Given the description of an element on the screen output the (x, y) to click on. 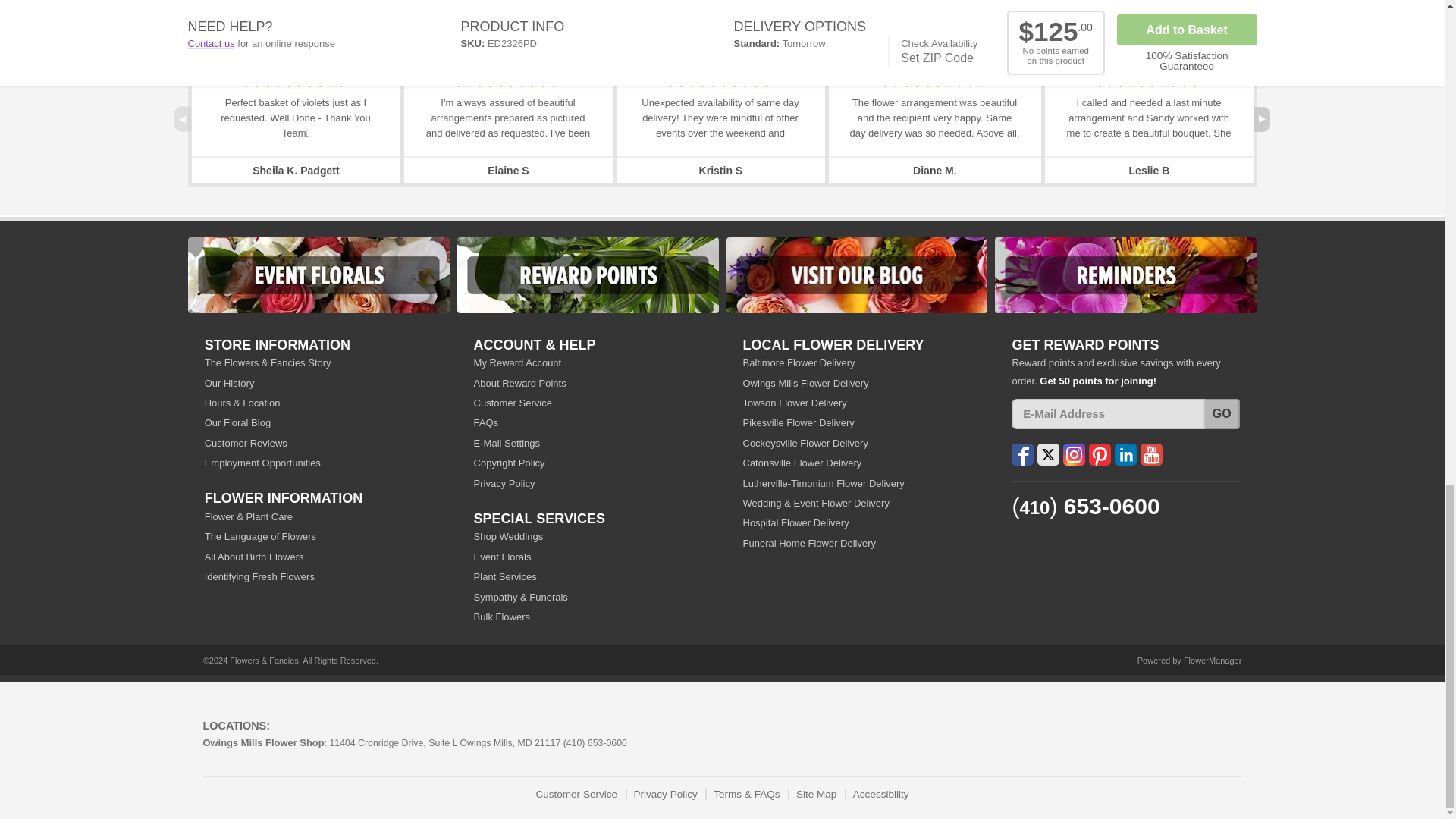
Full Star (485, 77)
Full Star (505, 77)
Full Star (314, 77)
Full Star (675, 77)
Full Star (250, 77)
Full Star (336, 77)
Full Star (292, 77)
Full Star (527, 77)
Full Star (463, 77)
Full Star (547, 77)
Full Star (272, 77)
